Given the description of an element on the screen output the (x, y) to click on. 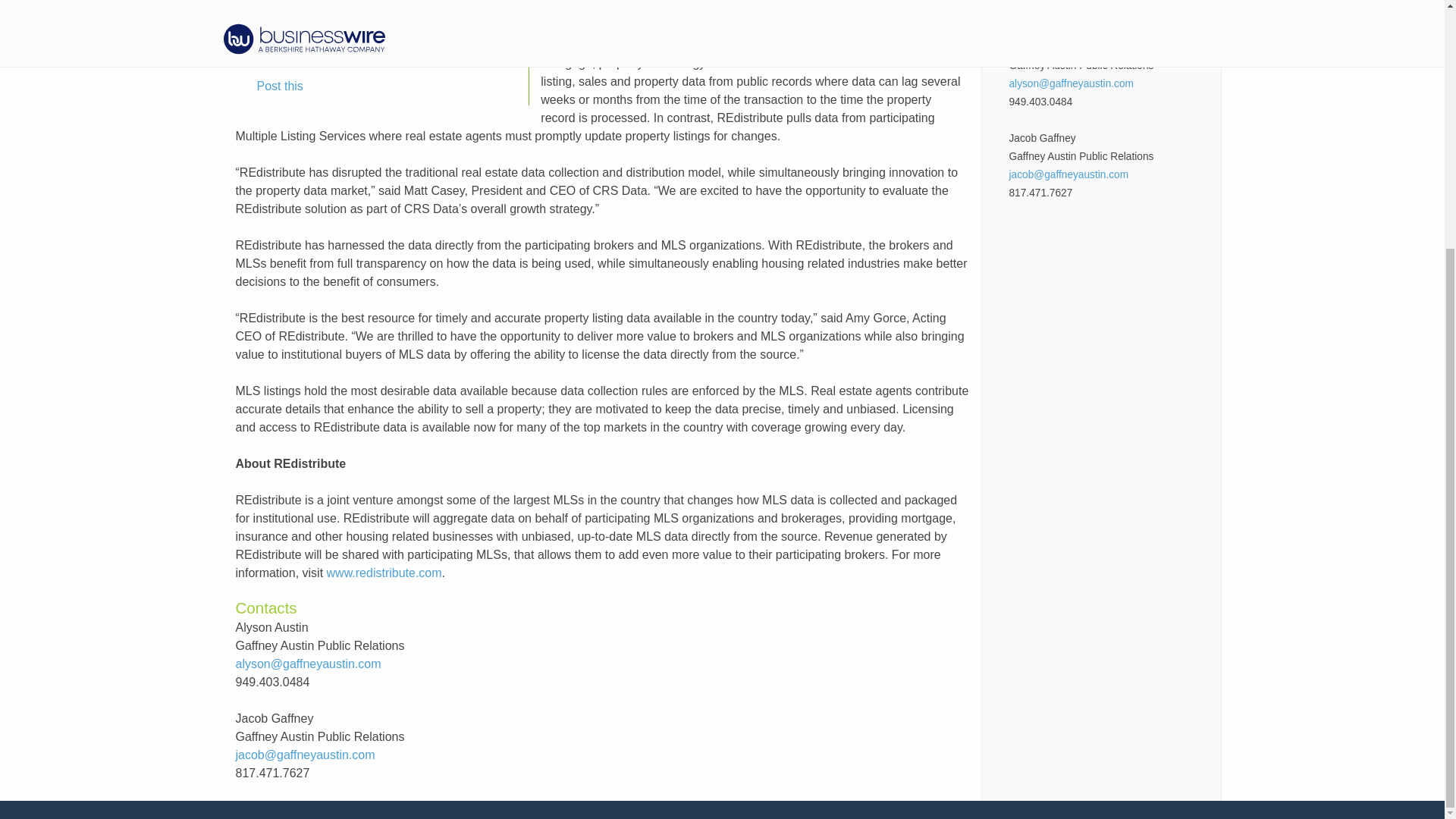
Post this (269, 86)
www.redistribute.com (384, 572)
